Given the description of an element on the screen output the (x, y) to click on. 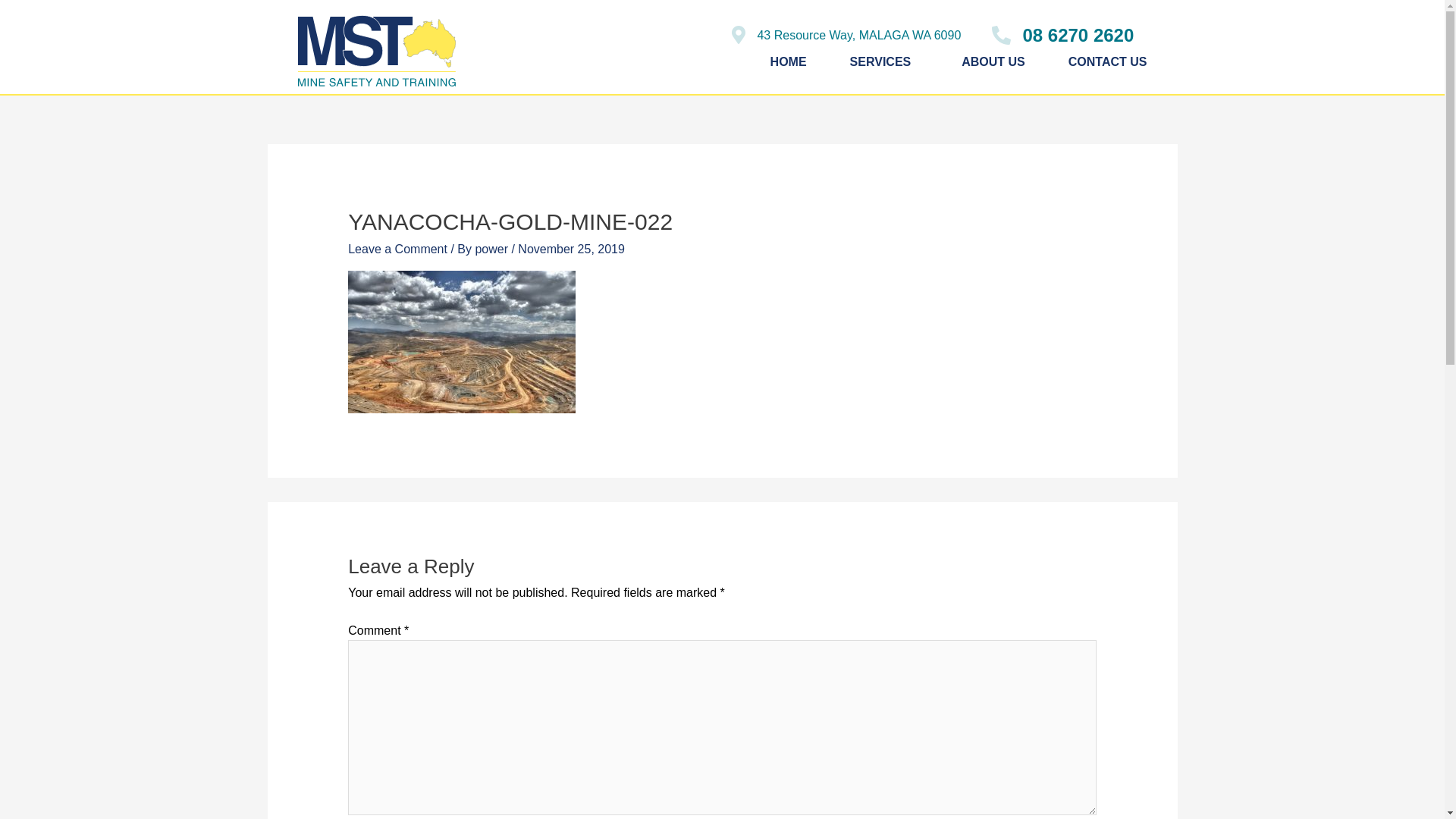
CONTACT US Element type: text (1107, 61)
ABOUT US Element type: text (993, 61)
Leave a Comment Element type: text (397, 248)
SERVICES Element type: text (884, 61)
power Element type: text (492, 248)
08 6270 2620 Element type: text (1061, 35)
HOME Element type: text (788, 61)
